Given the description of an element on the screen output the (x, y) to click on. 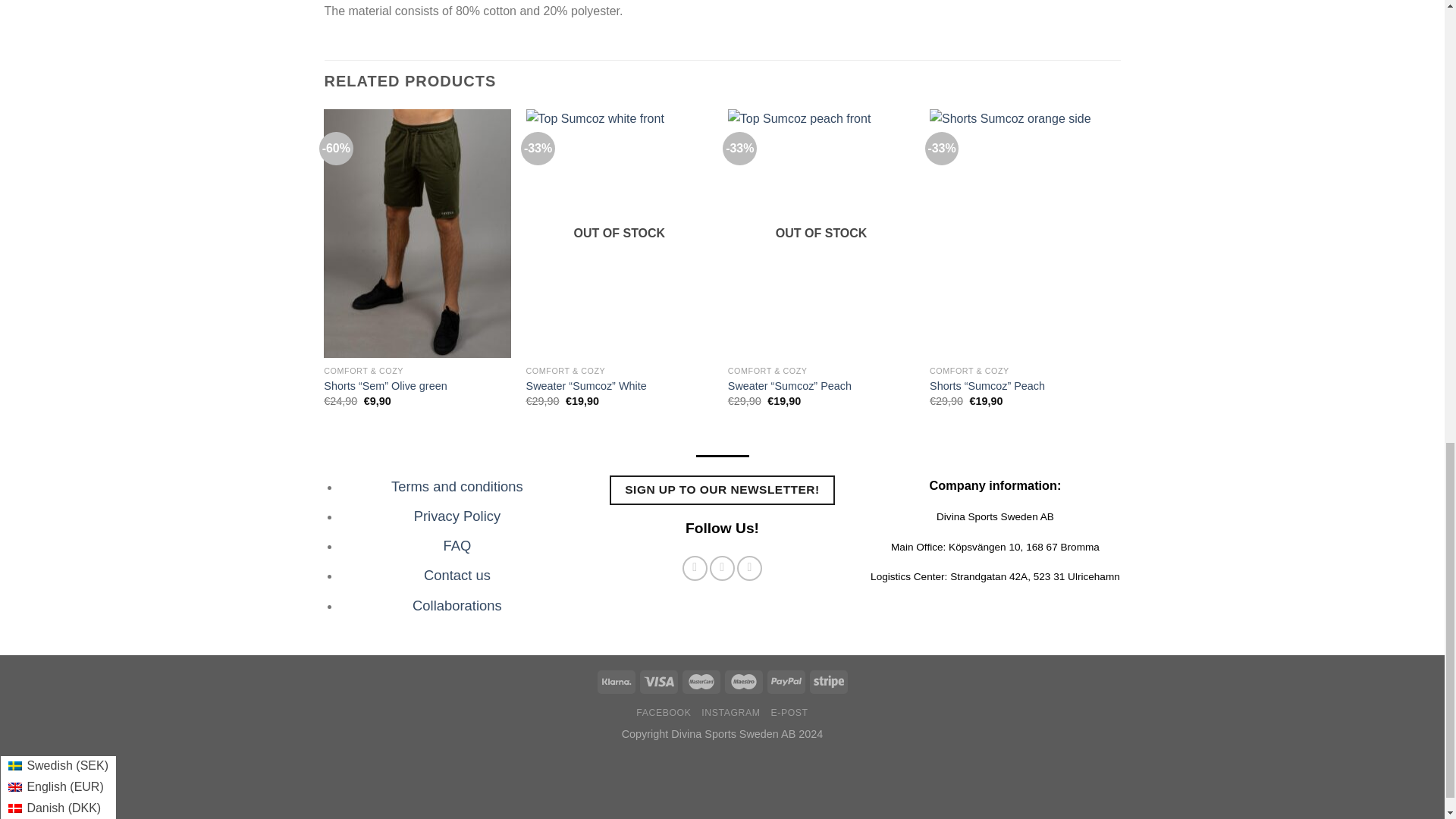
Follow on YouTube (748, 568)
Follow on Facebook (694, 568)
Follow on Instagram (722, 568)
